Given the description of an element on the screen output the (x, y) to click on. 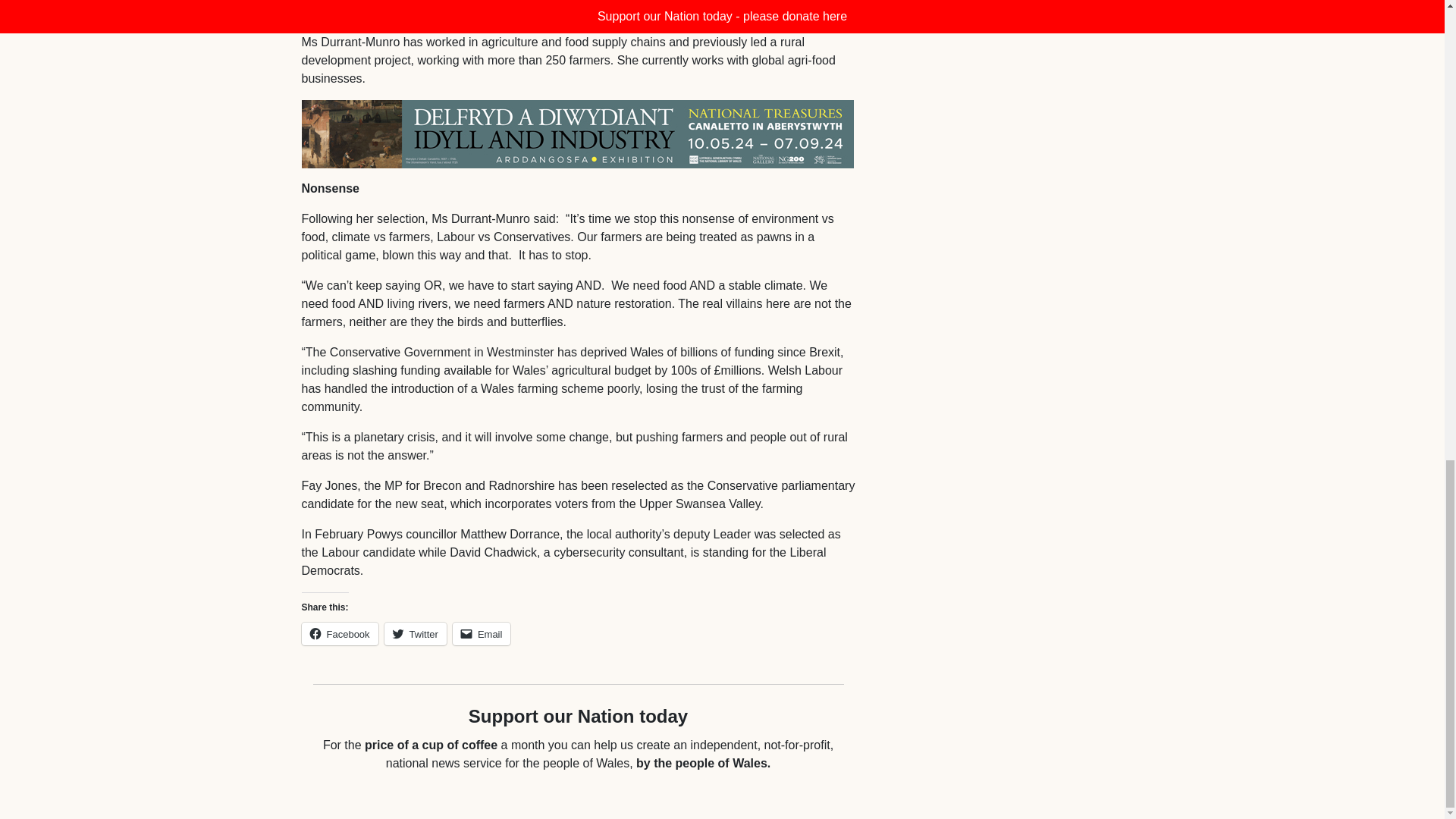
Twitter (415, 633)
Click to share on Twitter (415, 633)
Facebook (339, 633)
Email (481, 633)
Click to email a link to a friend (481, 633)
Click to share on Facebook (339, 633)
